Given the description of an element on the screen output the (x, y) to click on. 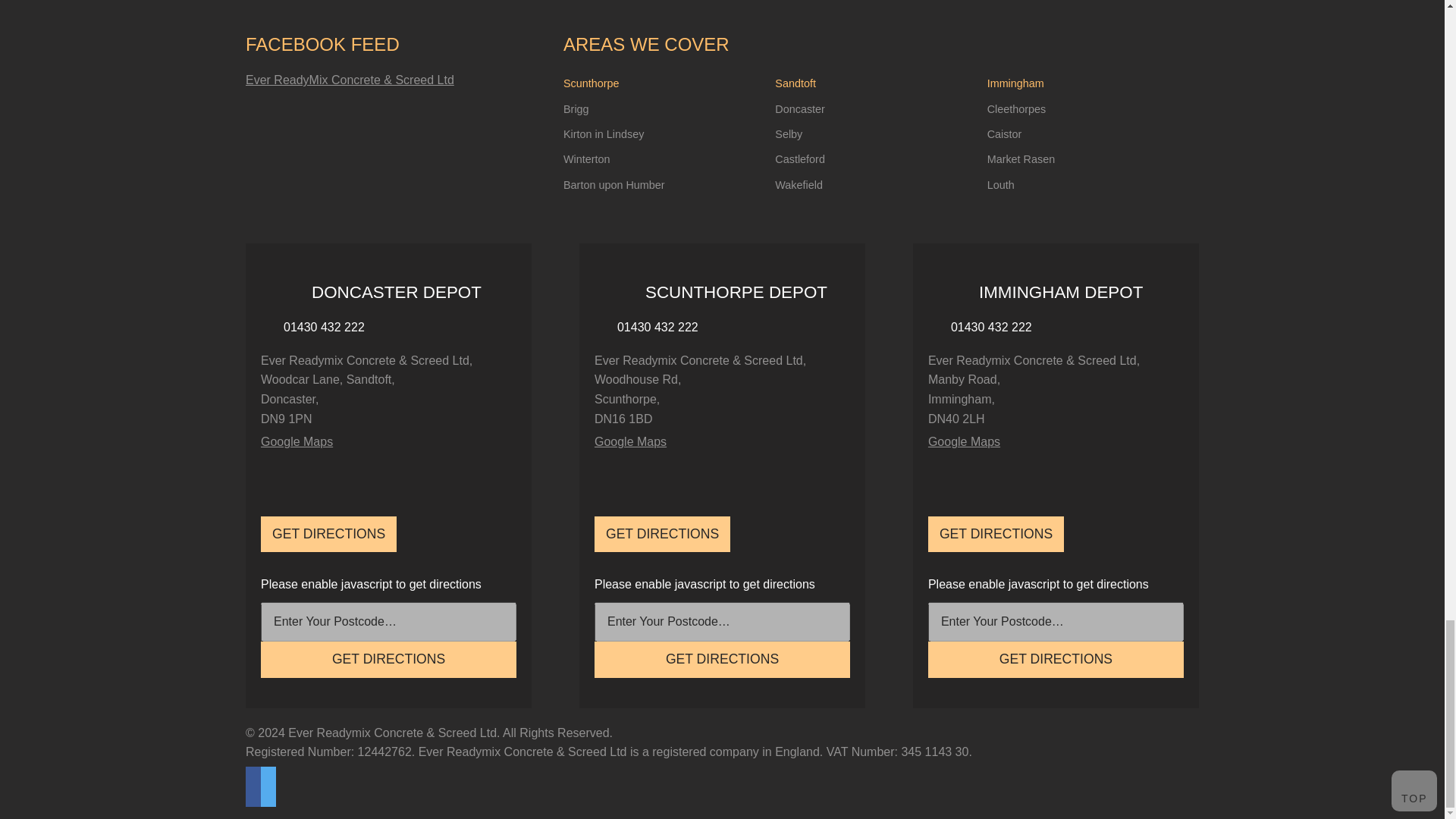
Get Directions (1055, 659)
Get Directions (722, 659)
Get Directions (388, 659)
